Given the description of an element on the screen output the (x, y) to click on. 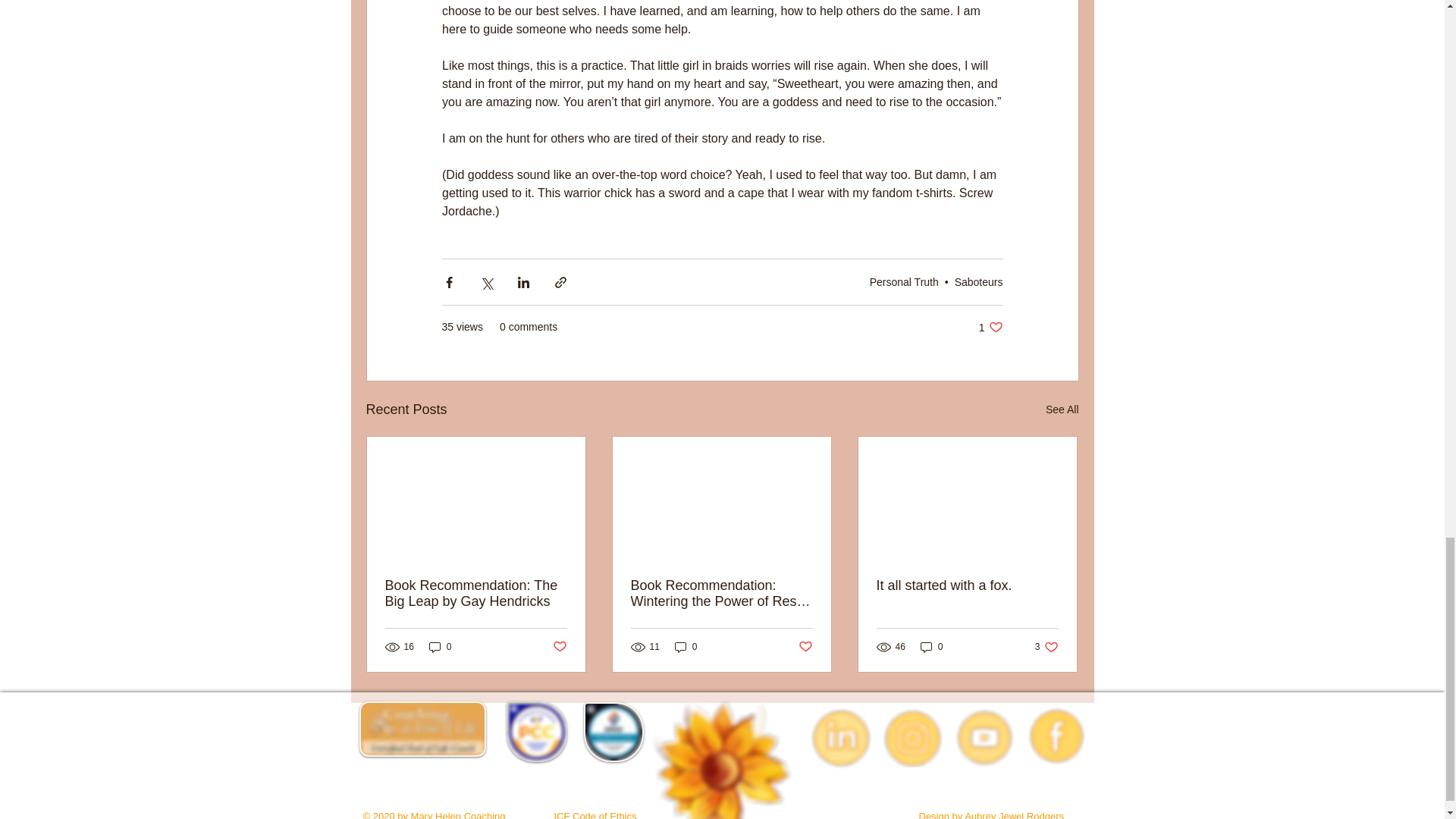
Personal Truth (904, 282)
Book Recommendation: The Big Leap by Gay Hendricks (476, 593)
See All (1061, 409)
0 (440, 646)
Post not marked as liked (990, 327)
Saboteurs (558, 646)
